Given the description of an element on the screen output the (x, y) to click on. 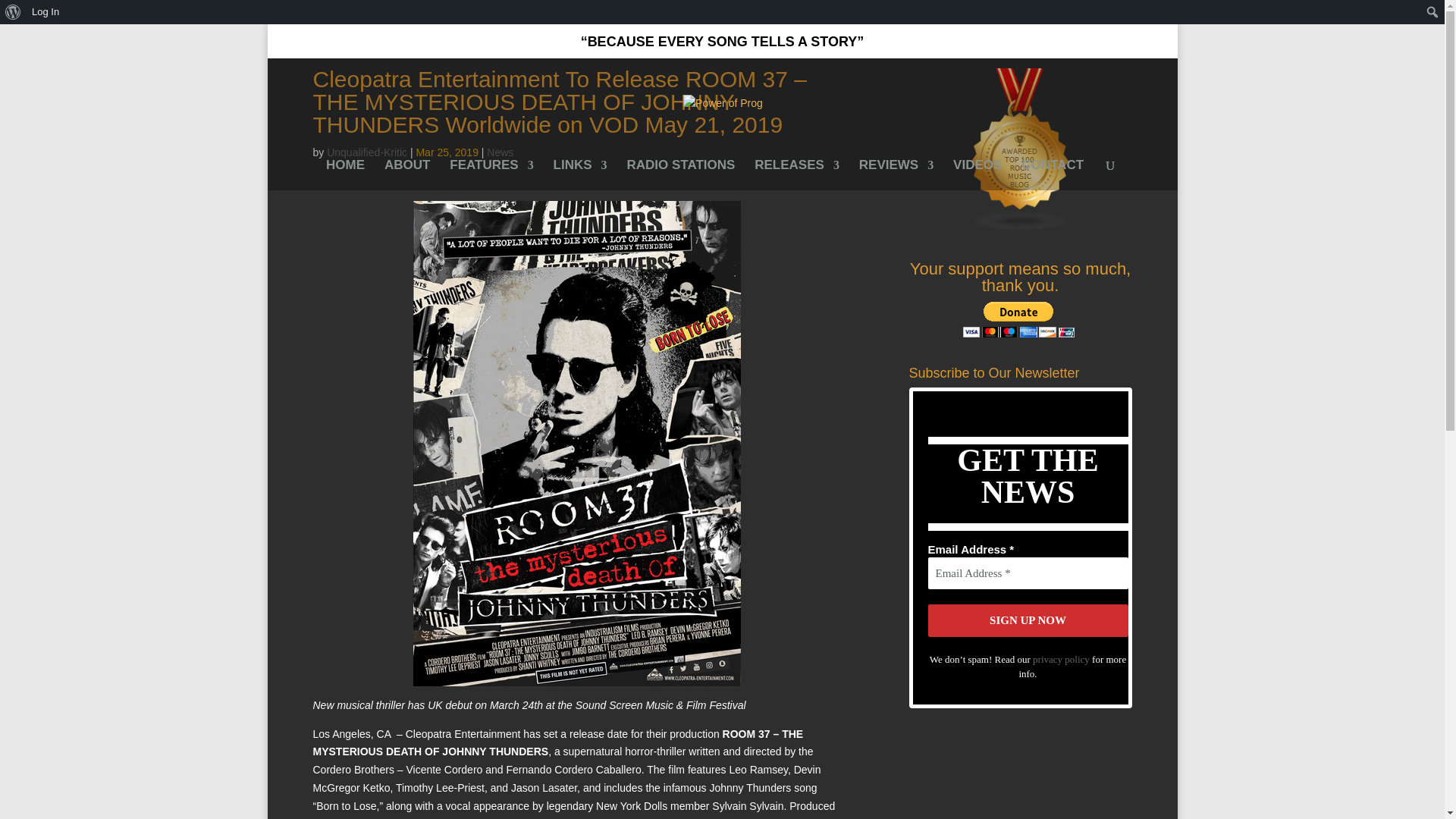
LINKS (580, 174)
Unqualified-Kritic (366, 152)
Email Address (1028, 573)
SIGN UP NOW (1028, 620)
Search (16, 13)
HOME (345, 174)
Rock Music blogs (1020, 227)
VIDEOS (977, 174)
Log In (45, 12)
Posts by Unqualified-Kritic (366, 152)
News (499, 152)
REVIEWS (896, 174)
FEATURES (490, 174)
SIGN UP NOW (1028, 620)
privacy policy (1060, 659)
